Given the description of an element on the screen output the (x, y) to click on. 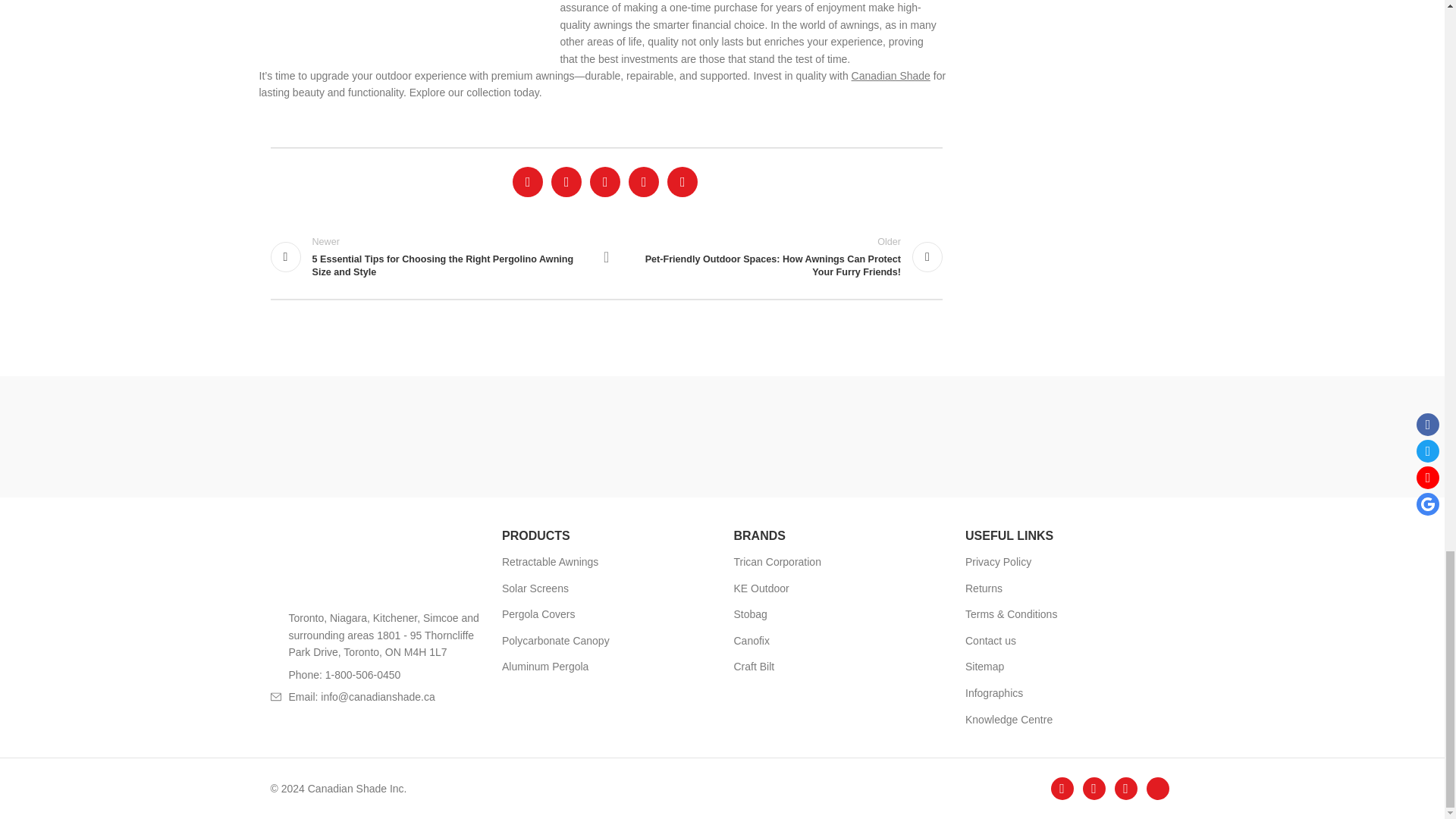
wd-cursor-dark (275, 617)
wd-phone-dark (275, 674)
